Given the description of an element on the screen output the (x, y) to click on. 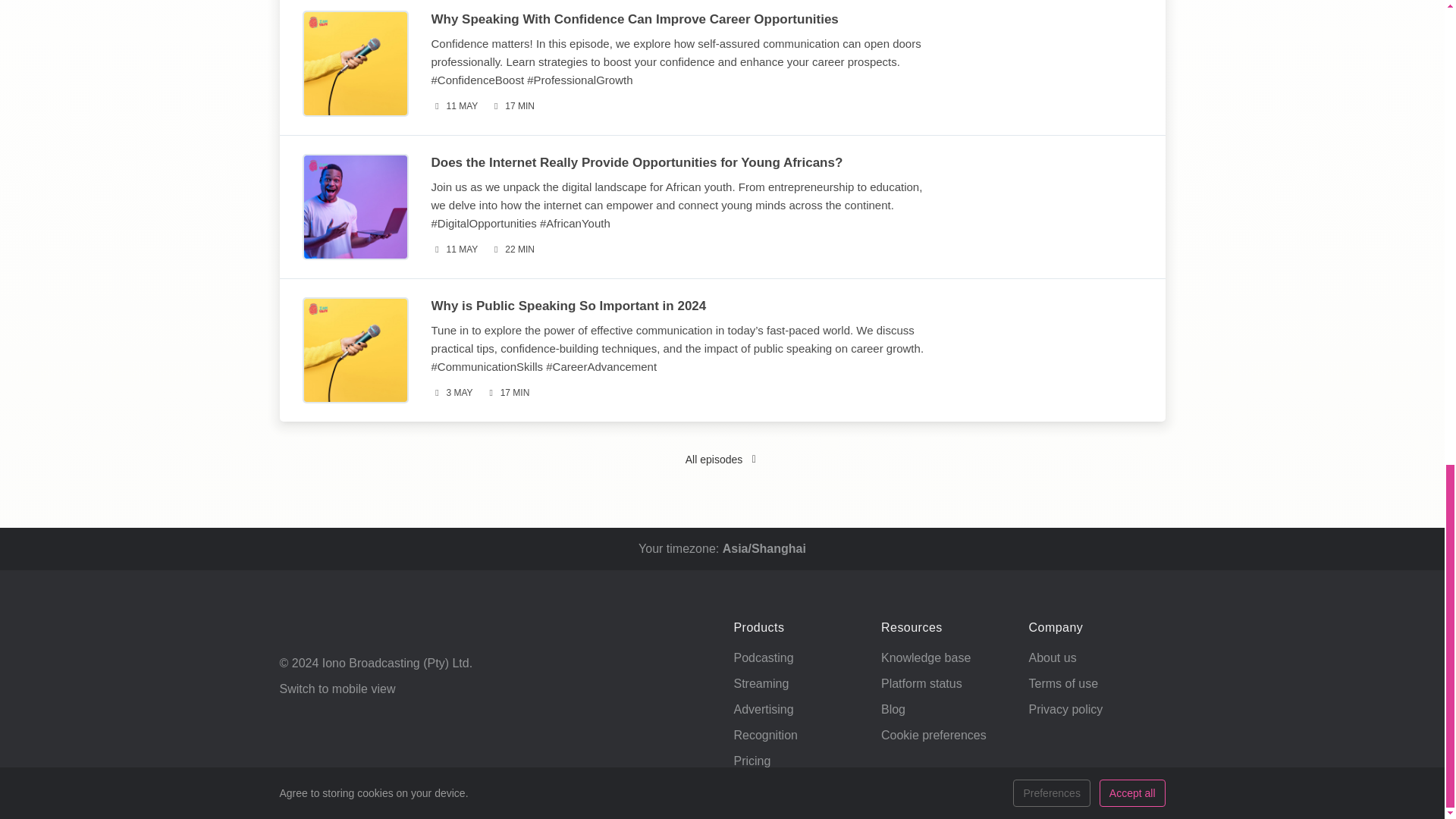
Published (453, 249)
Published (450, 392)
Duration (511, 249)
Published (453, 106)
Duration (511, 106)
